Given the description of an element on the screen output the (x, y) to click on. 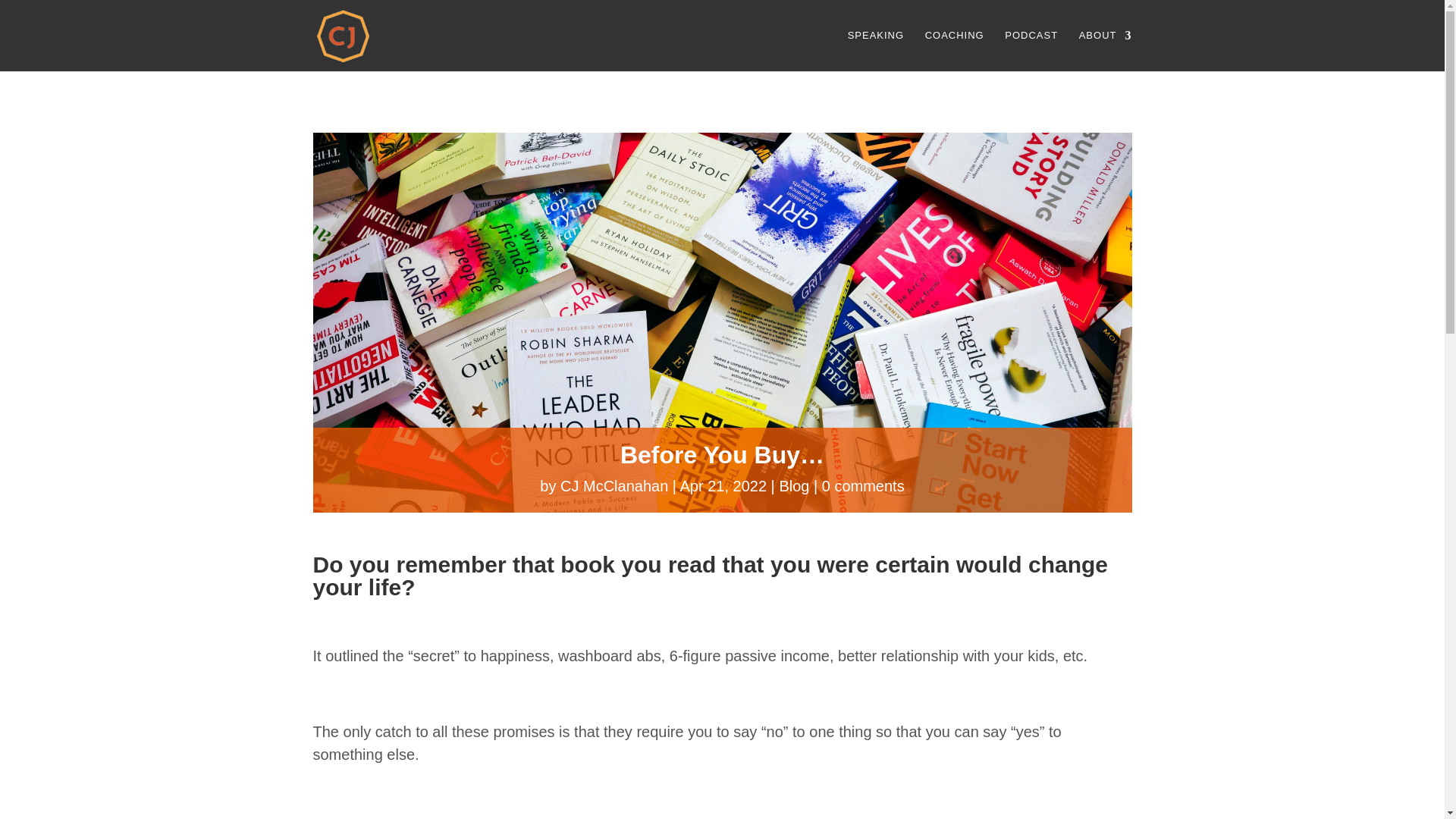
SPEAKING (875, 50)
Posts by CJ McClanahan (614, 485)
PODCAST (1031, 50)
ABOUT (1105, 50)
COACHING (954, 50)
Blog (793, 485)
CJ McClanahan (614, 485)
0 comments (863, 485)
